Given the description of an element on the screen output the (x, y) to click on. 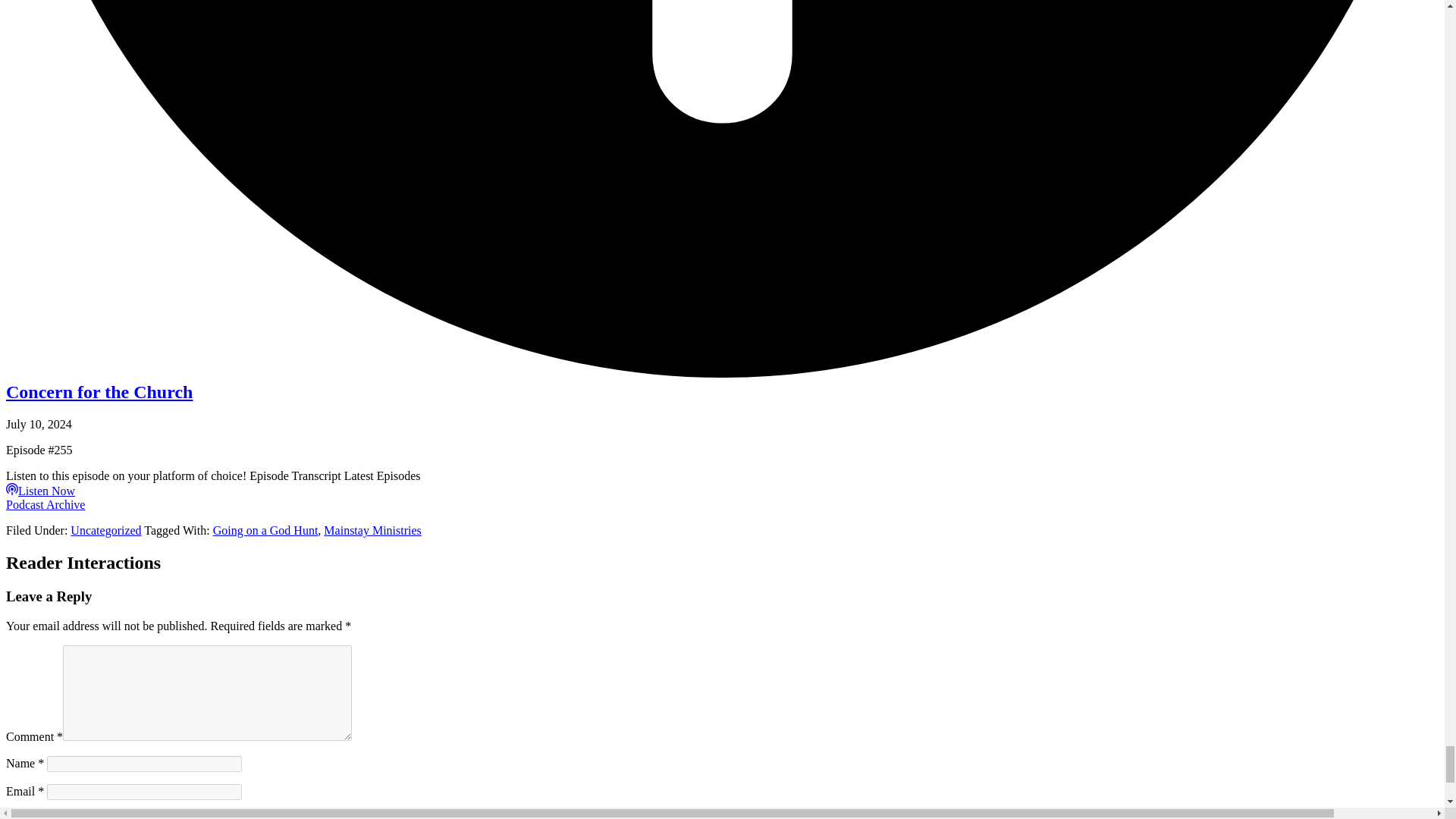
Uncategorized (105, 530)
Going on a God Hunt (265, 530)
Concern for the Church (98, 392)
Listen Now (40, 490)
Mainstay Ministries (371, 530)
Podcast Archive (44, 504)
